Given the description of an element on the screen output the (x, y) to click on. 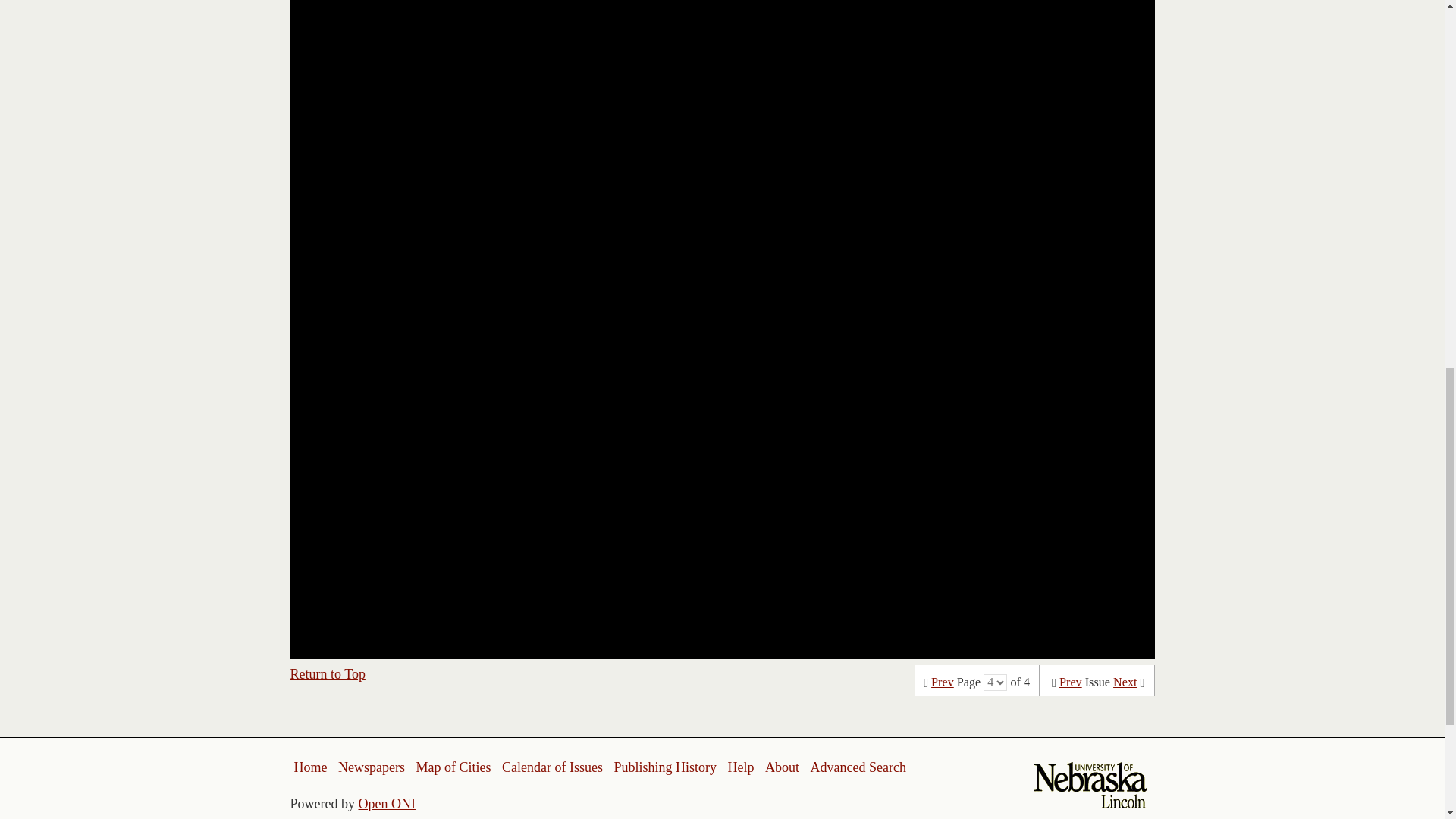
Calendar of Issues (552, 767)
Publishing History (664, 767)
Help (740, 767)
Map of Cities (452, 767)
Prev (942, 682)
Home (310, 767)
Newspapers (370, 767)
About (782, 767)
Prev (1070, 682)
Open ONI (386, 803)
Return to Top (327, 673)
Next (1125, 682)
Advanced Search (857, 767)
